Given the description of an element on the screen output the (x, y) to click on. 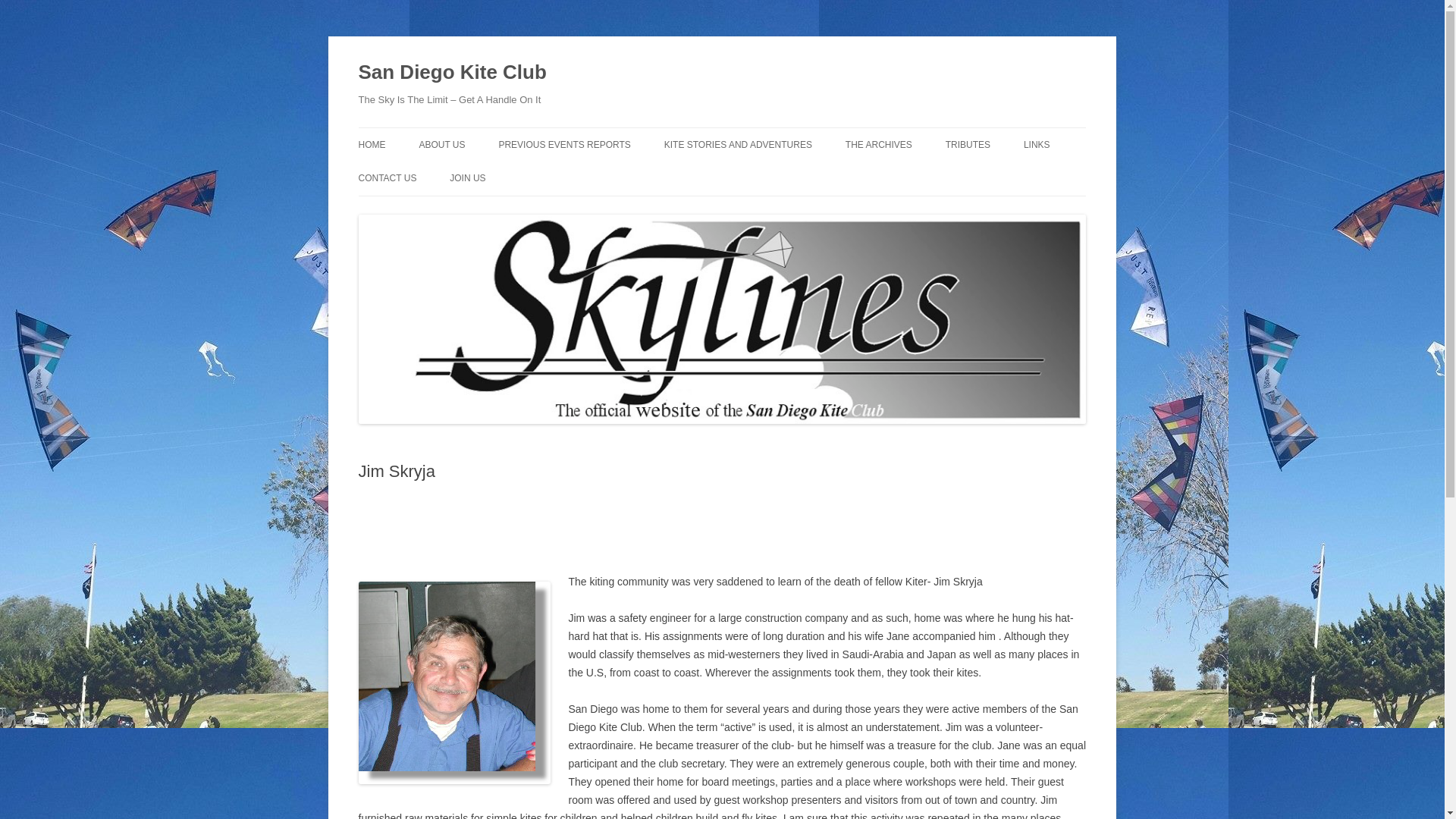
CONTACT US (387, 177)
Jim Skryja (454, 682)
TRIBUTES (967, 144)
ABOUT US (441, 144)
Skip to content (757, 132)
PREVIOUS EVENTS REPORTS (563, 144)
THE ARCHIVES (878, 144)
San Diego Kite Club (452, 72)
KITE STORIES AND ADVENTURES (737, 144)
San Diego Kite Club (452, 72)
